Given the description of an element on the screen output the (x, y) to click on. 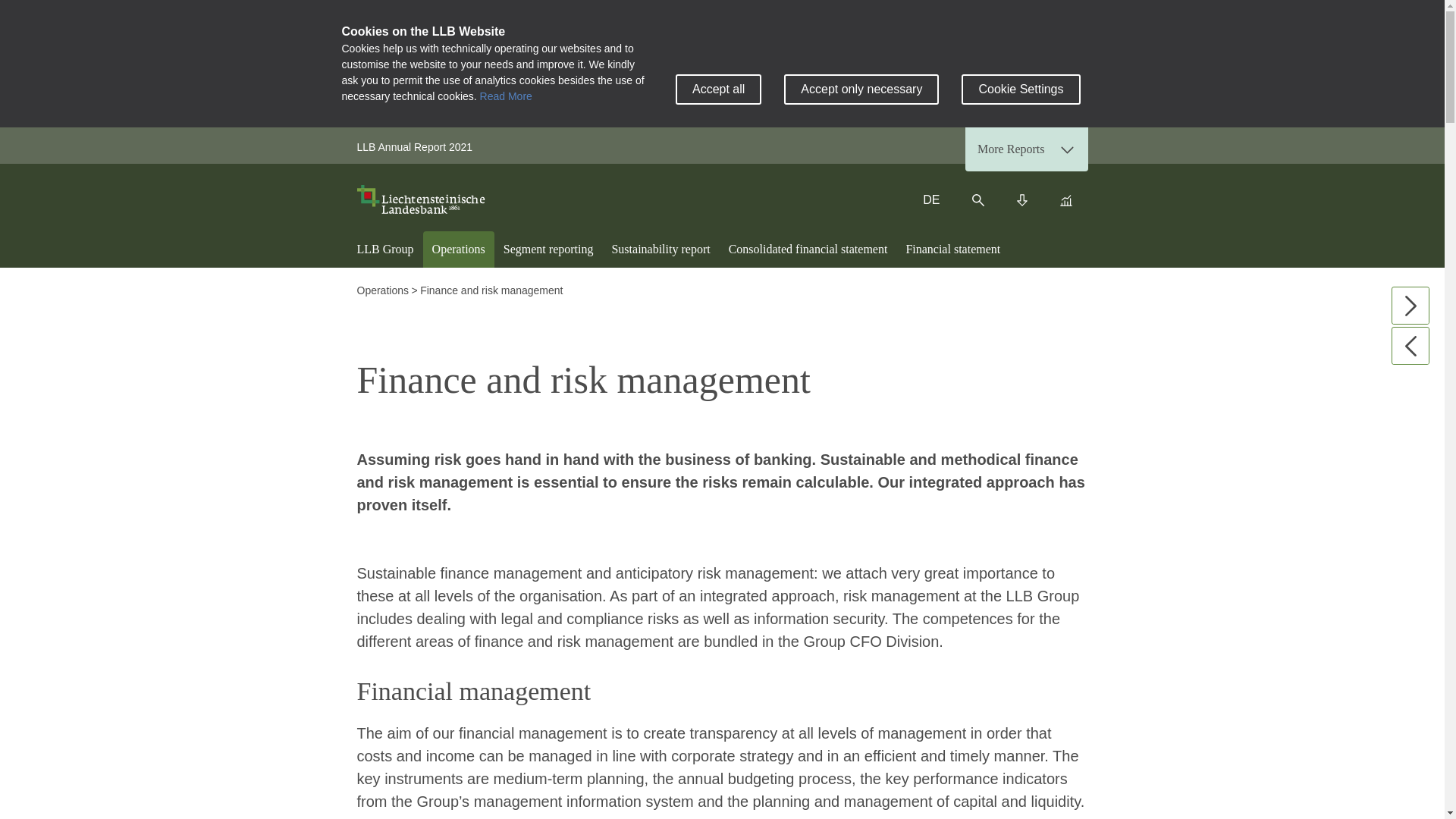
Accept only necessary (861, 89)
Home (424, 199)
Download Center (1020, 199)
Accept all (718, 89)
Search (976, 199)
Cookie Settings (1020, 89)
Read More (506, 96)
Keyfigure Comparison (1065, 200)
More Reports (1026, 149)
LLB Group (384, 248)
